Given the description of an element on the screen output the (x, y) to click on. 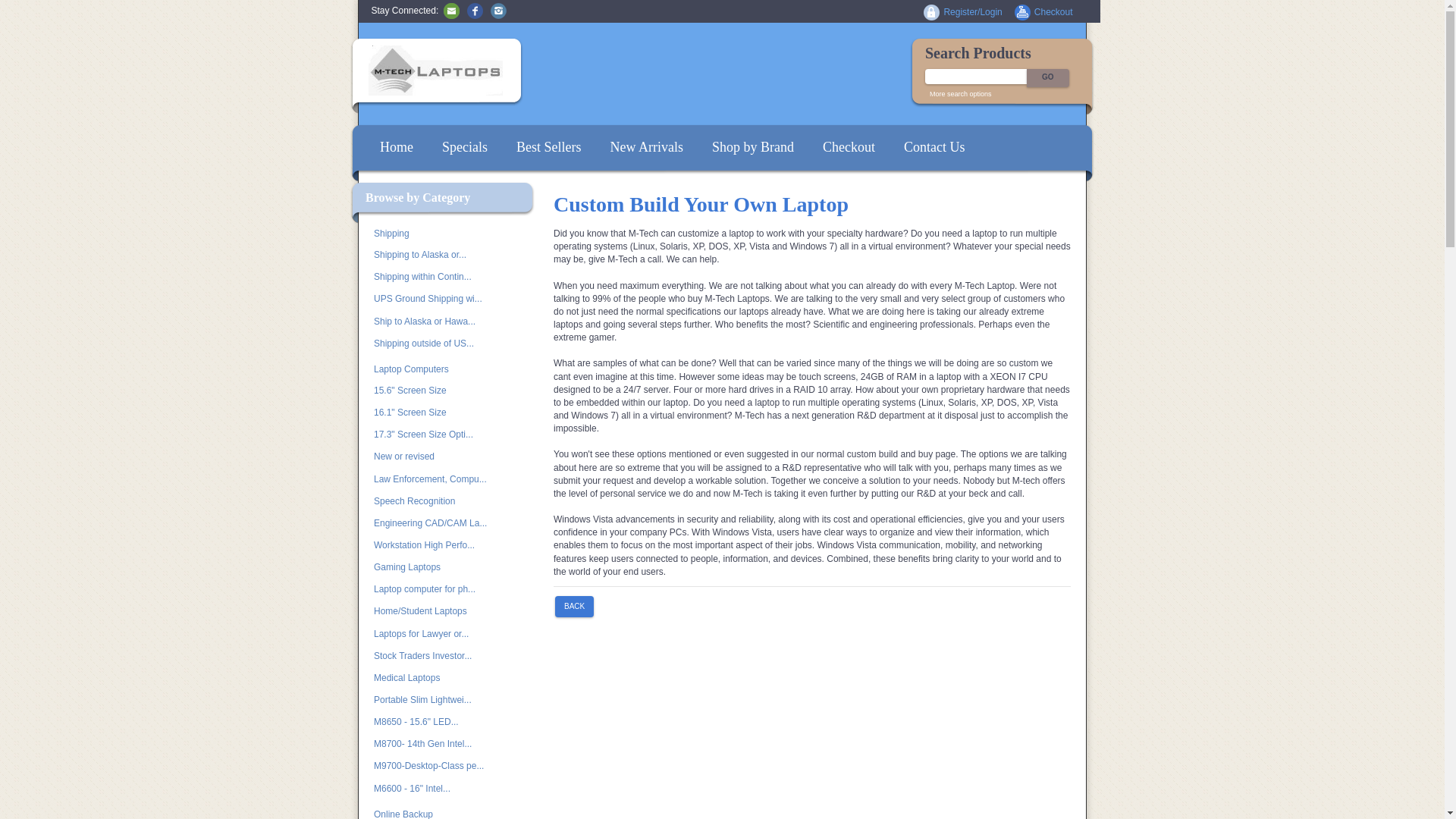
15.6" Screen Size (438, 391)
More search options (960, 93)
Shipping to Alaska or... (438, 255)
17.3" Screen Size Opti... (438, 434)
Specials (465, 147)
Contact Us (934, 147)
Ship to Alaska or Hawa... (438, 321)
Contact Us (452, 9)
New or revised (438, 456)
Go (1047, 77)
